Given the description of an element on the screen output the (x, y) to click on. 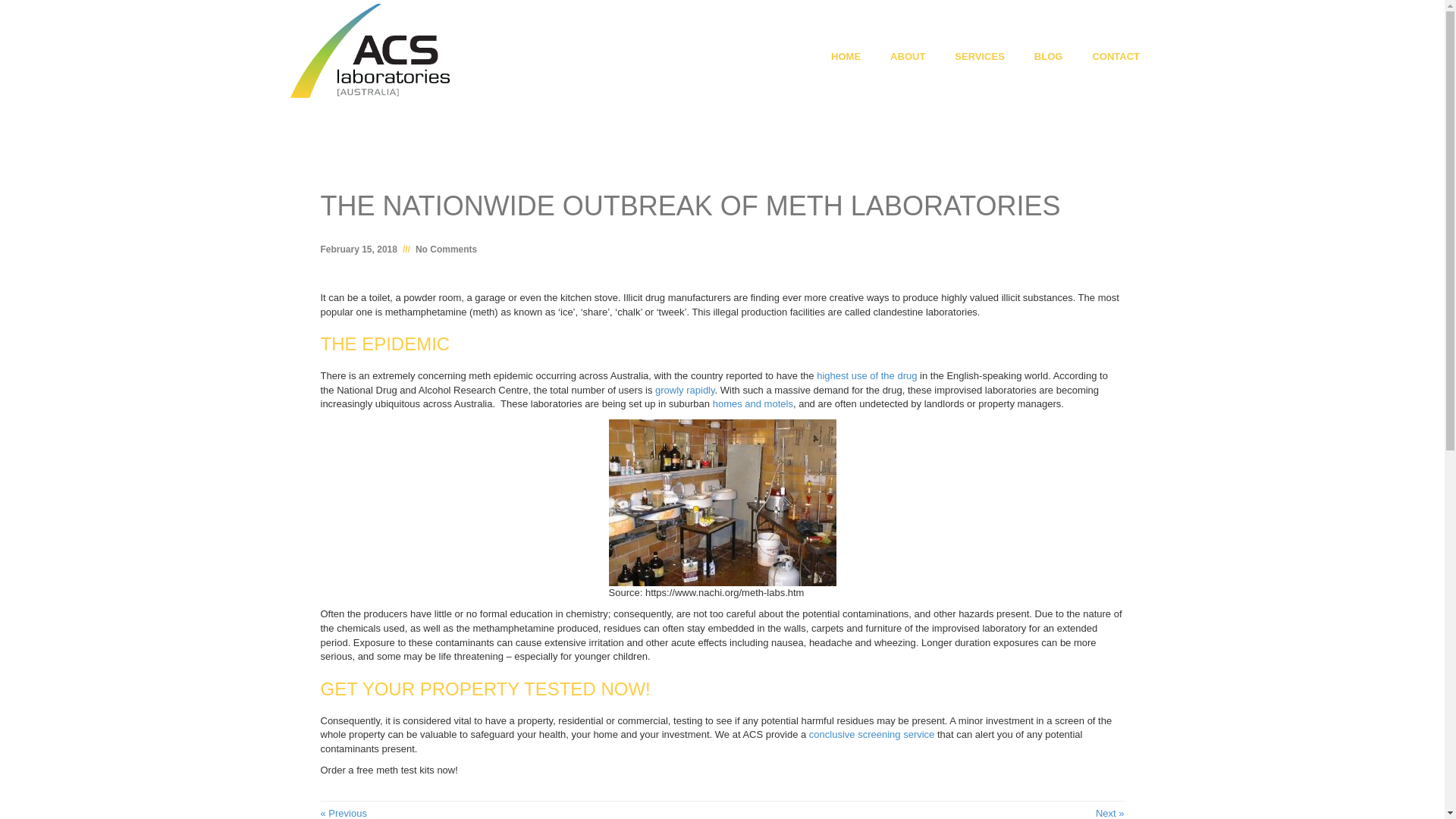
conclusive screening service (871, 734)
highest use of the drug (866, 375)
growly rapidly (684, 389)
homes and motels (753, 403)
No Comments (445, 249)
